Given the description of an element on the screen output the (x, y) to click on. 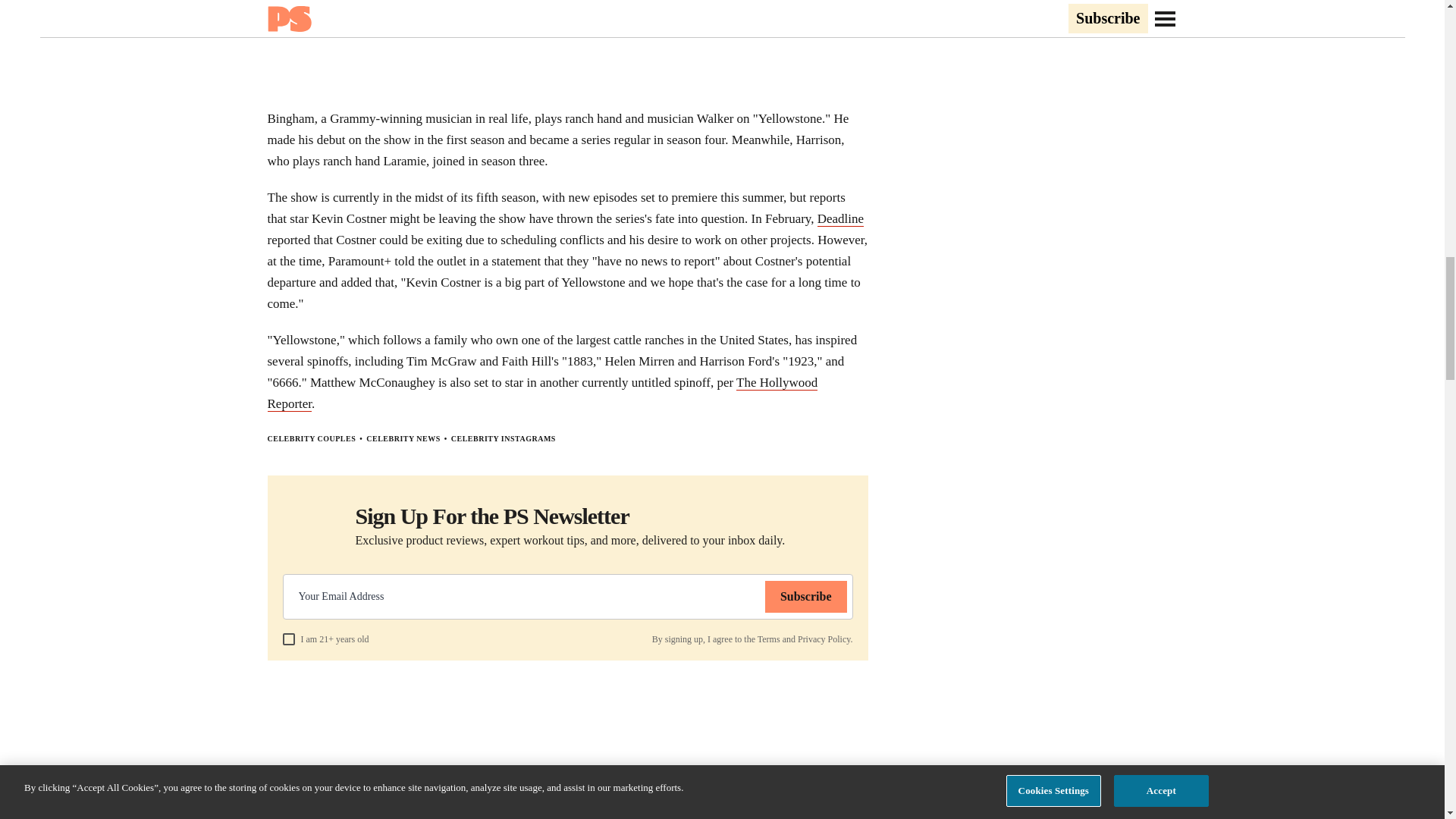
CELEBRITY INSTAGRAMS (503, 438)
Privacy Policy. (825, 638)
Deadline (839, 218)
CELEBRITY NEWS (403, 438)
The Hollywood Reporter (541, 393)
Subscribe (806, 596)
CELEBRITY COUPLES (310, 438)
Terms (768, 638)
